Given the description of an element on the screen output the (x, y) to click on. 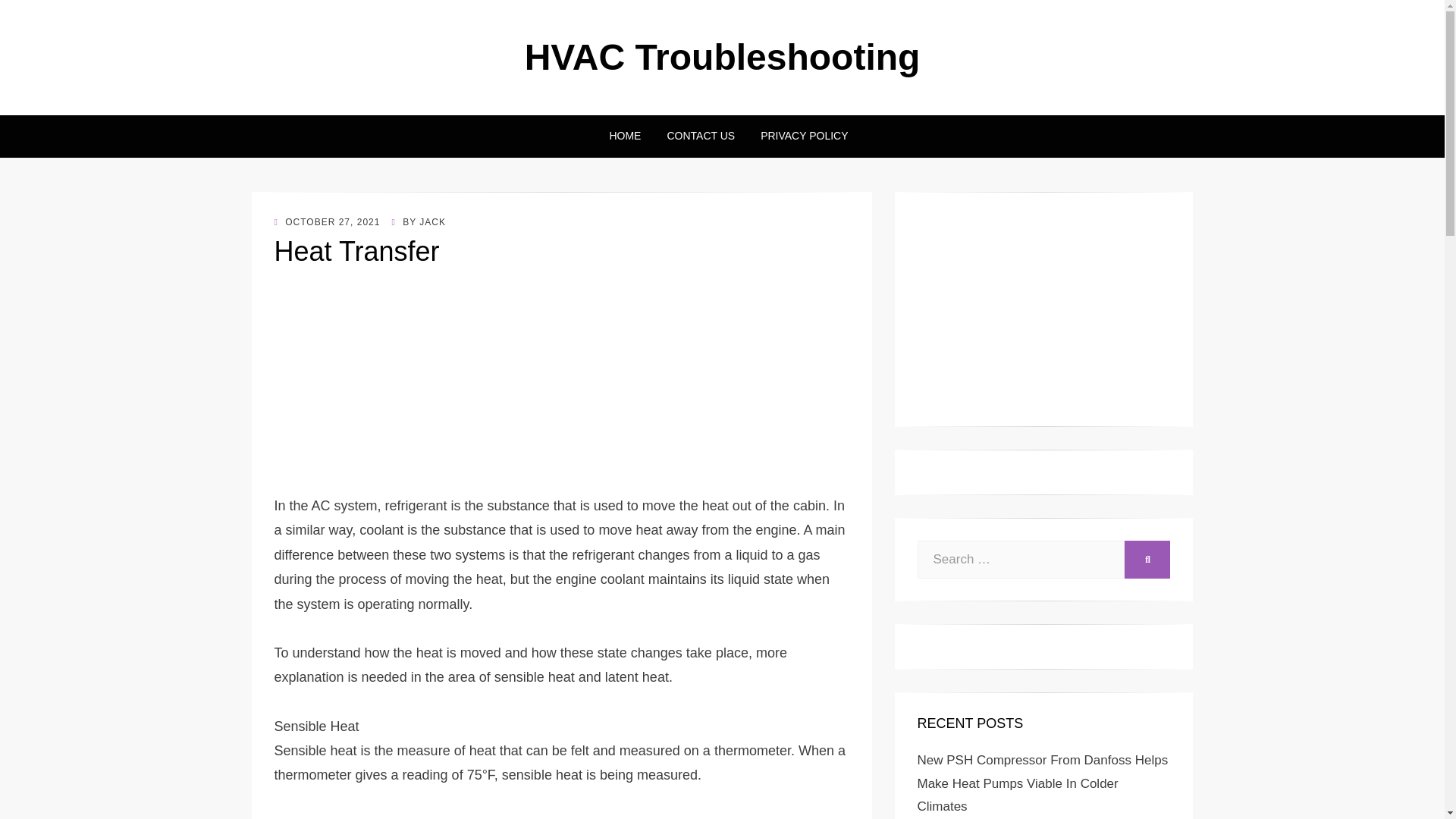
JACK (432, 222)
Advertisement (1043, 309)
HOME (624, 135)
Search for: (1021, 559)
Advertisement (561, 387)
SEARCH (1147, 559)
HVAC Troubleshooting (722, 56)
PRIVACY POLICY (797, 135)
CONTACT US (700, 135)
HVAC Troubleshooting (722, 56)
OCTOBER 27, 2021 (327, 222)
